Given the description of an element on the screen output the (x, y) to click on. 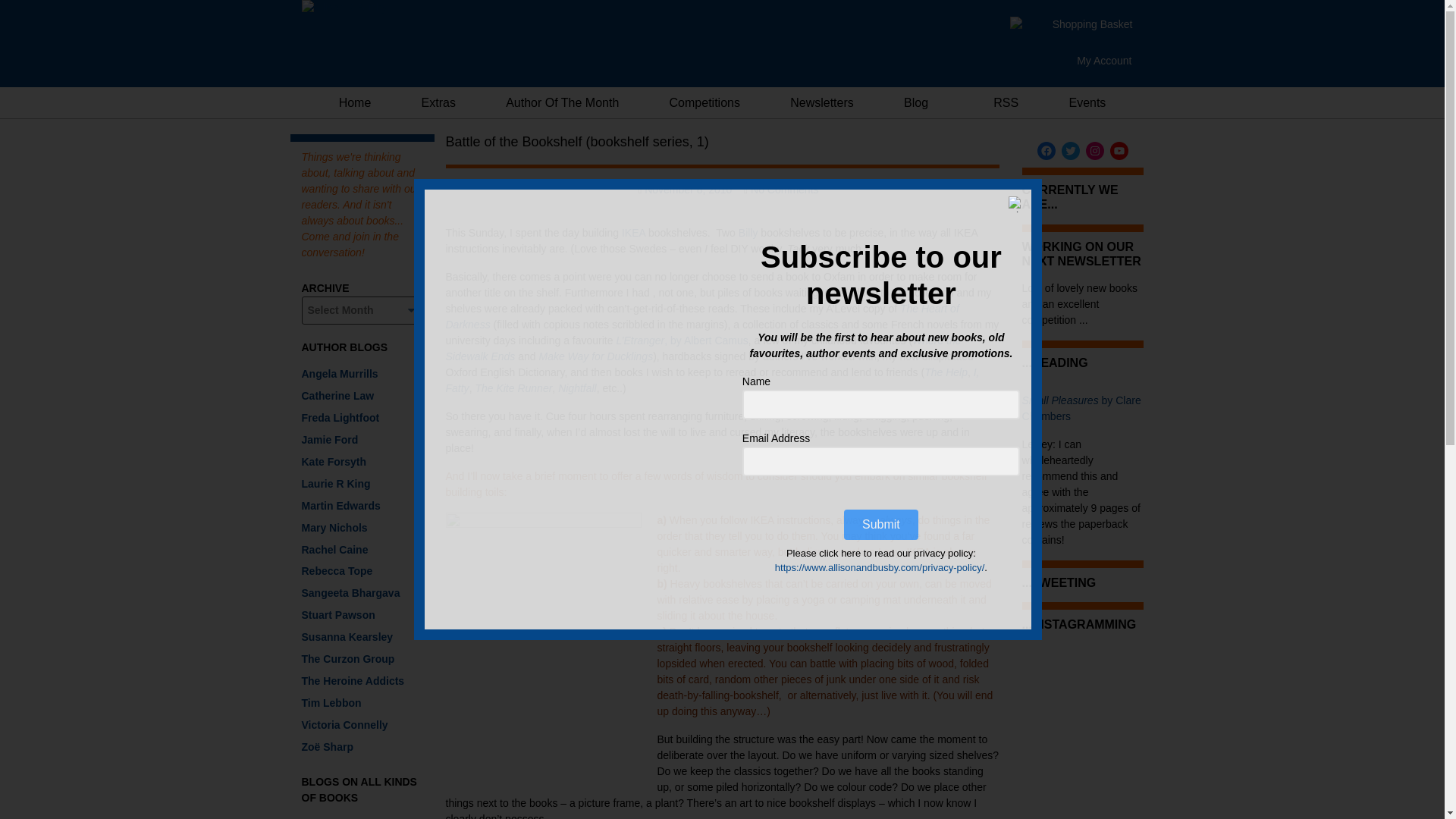
RSS (998, 102)
Home (355, 102)
Rachel Caine (334, 548)
The Curzon Group (347, 658)
Extras (438, 102)
Sangeeta Bhargava (350, 592)
Victoria Connelly (344, 725)
Susanna Kearsley (347, 636)
Kate Forsyth (333, 461)
Blog (916, 102)
My Account (1104, 60)
Laurie R King (336, 483)
Stuart Pawson (338, 614)
Martin Edwards (340, 505)
